Given the description of an element on the screen output the (x, y) to click on. 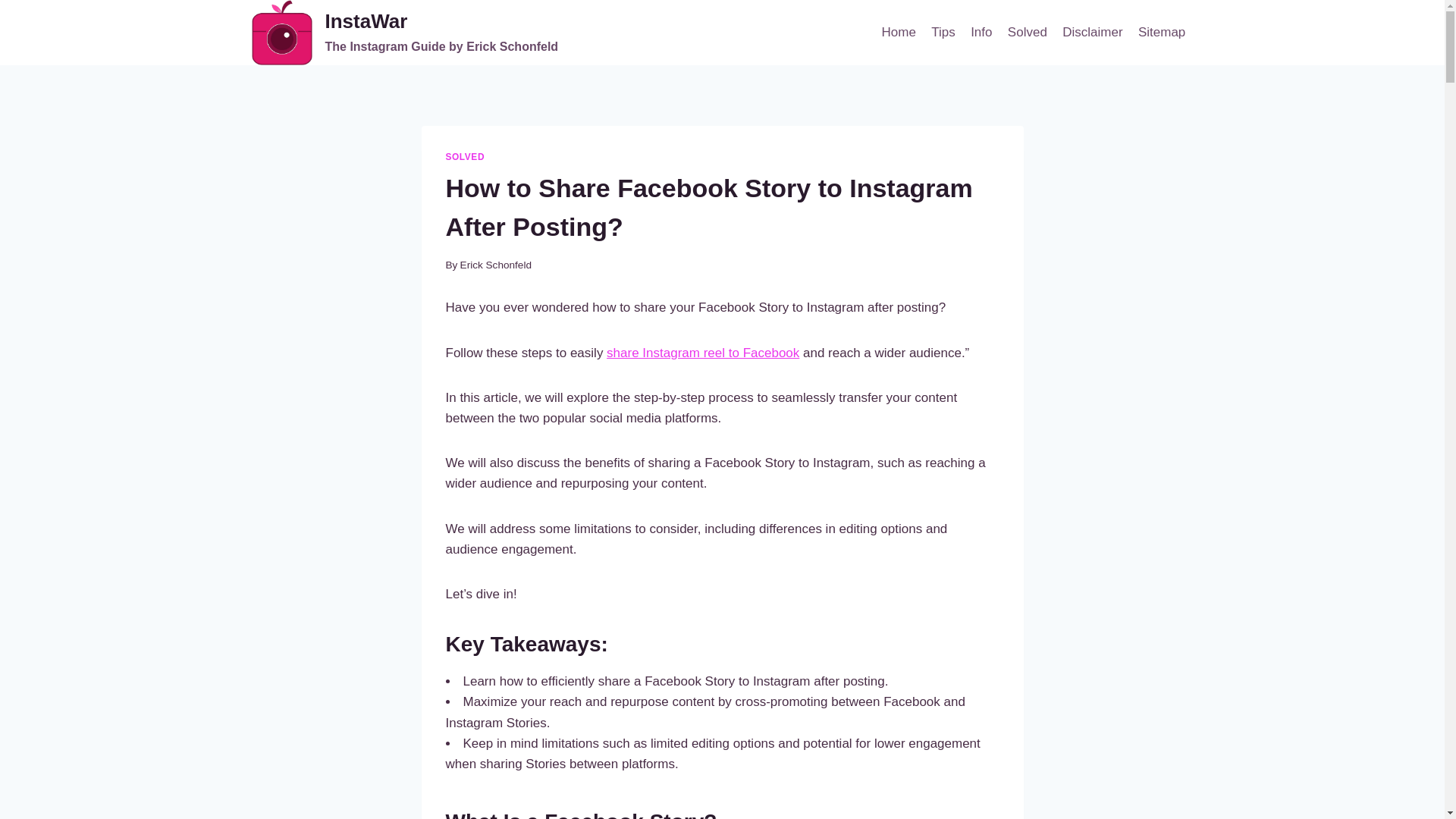
Info (981, 32)
Tips (942, 32)
Disclaimer (1092, 32)
Erick Schonfeld (495, 265)
Solved (1027, 32)
Sitemap (1162, 32)
Home (898, 32)
SOLVED (464, 156)
share Instagram reel to Facebook (405, 32)
